Given the description of an element on the screen output the (x, y) to click on. 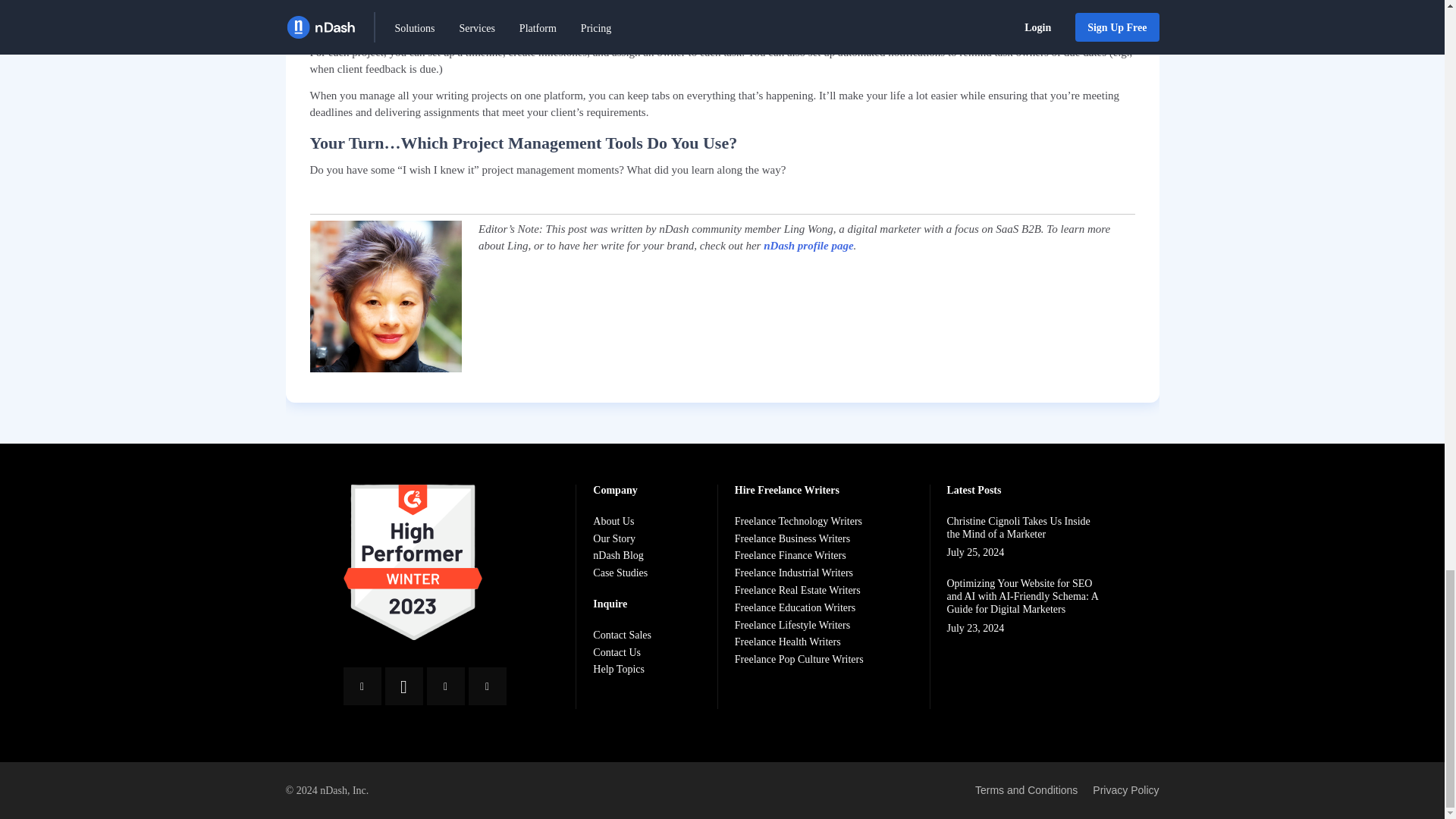
many (368, 9)
Freelance Technology Writers (799, 521)
Help Topics (621, 669)
Case Studies (621, 573)
nDash profile page (807, 245)
Freelance Real Estate Writers (799, 590)
Contact Us (621, 653)
Our Story (621, 539)
nDash Blog (621, 555)
Freelance Finance Writers (799, 555)
Freelance Industrial Writers (799, 573)
Contact Sales (621, 635)
About Us (621, 521)
Freelance Business Writers (799, 539)
